Given the description of an element on the screen output the (x, y) to click on. 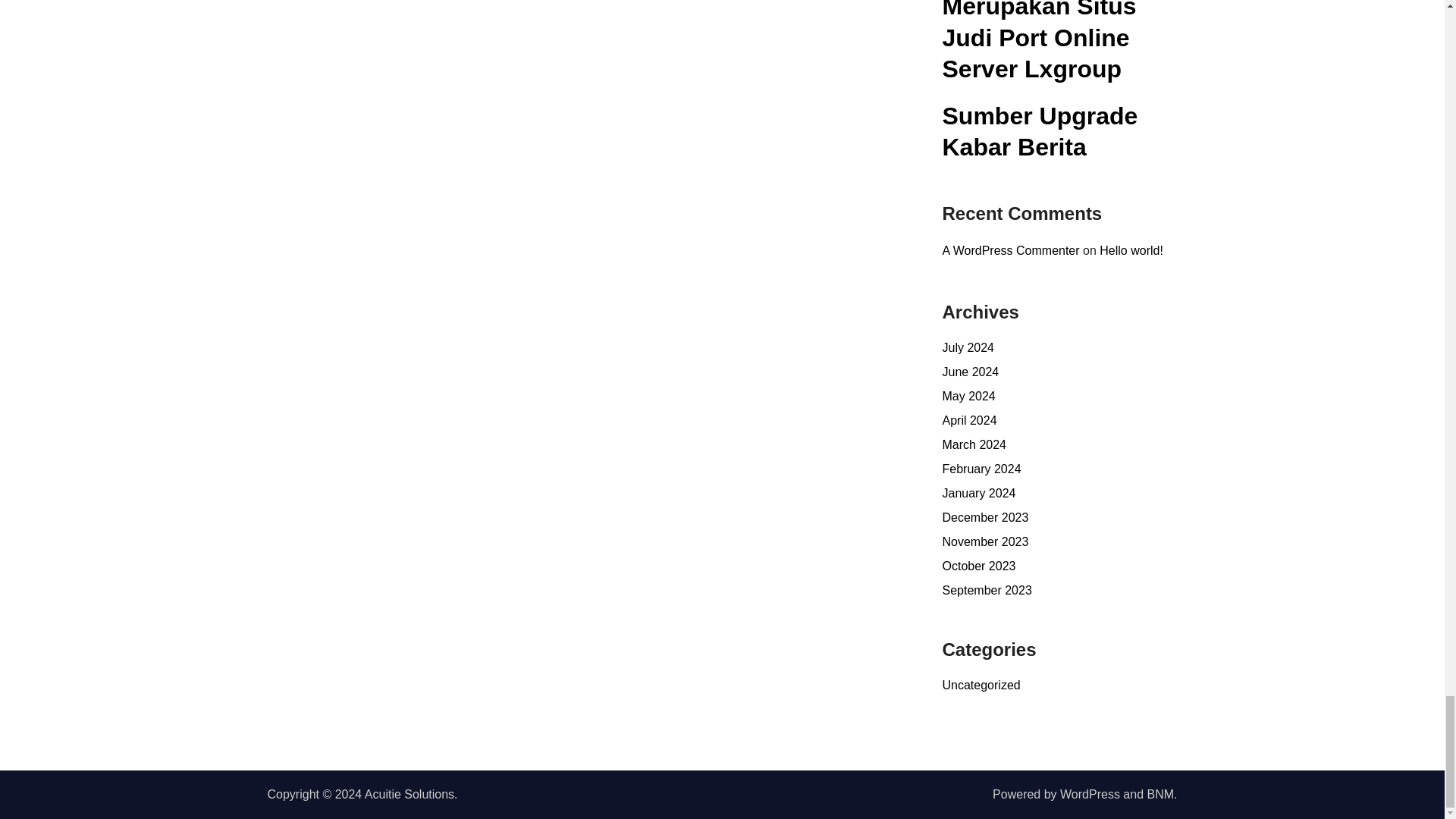
Acuitie Solutions (409, 793)
